Given the description of an element on the screen output the (x, y) to click on. 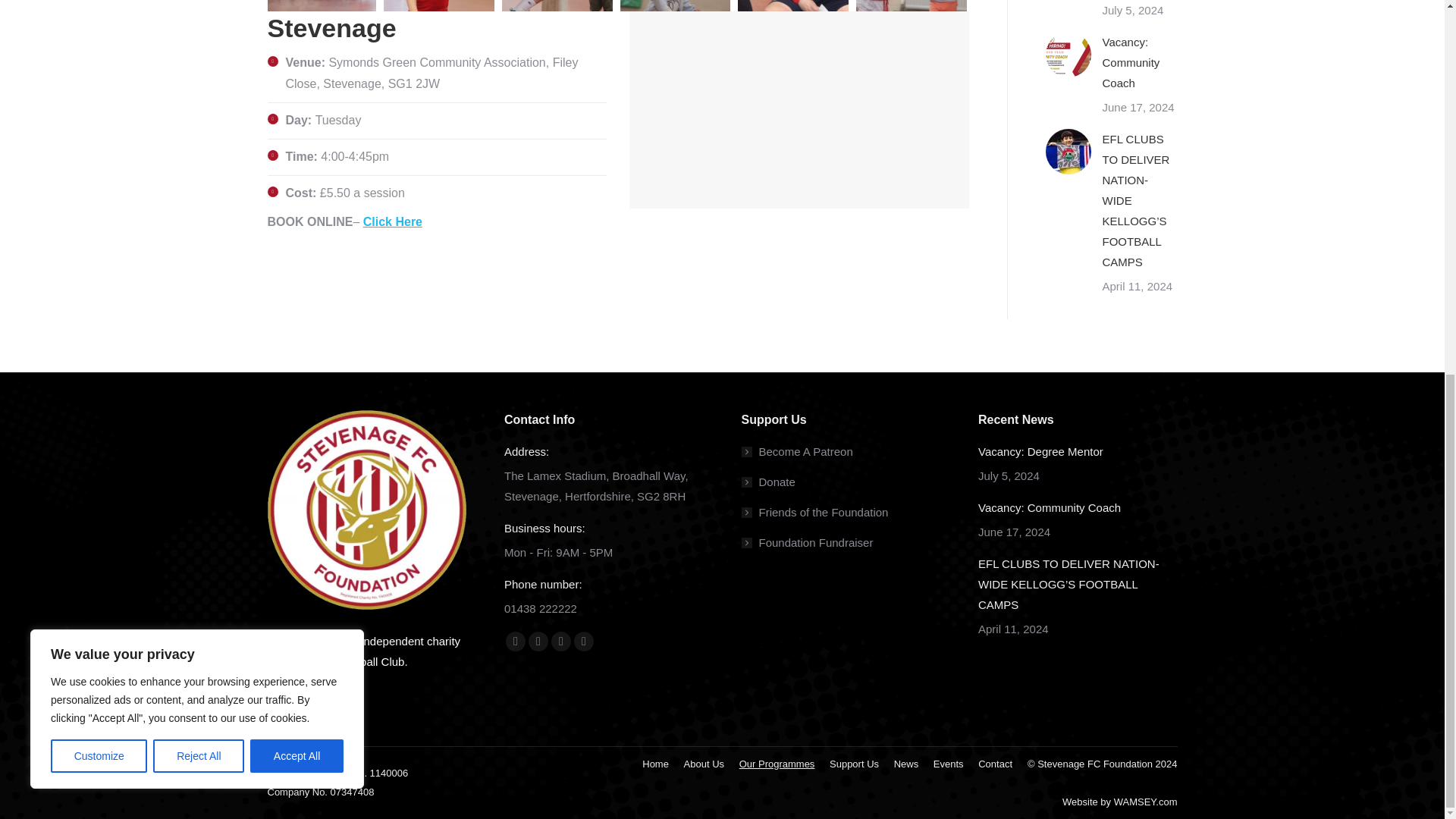
Customize (98, 68)
Reject All (198, 68)
Accept All (296, 68)
